Given the description of an element on the screen output the (x, y) to click on. 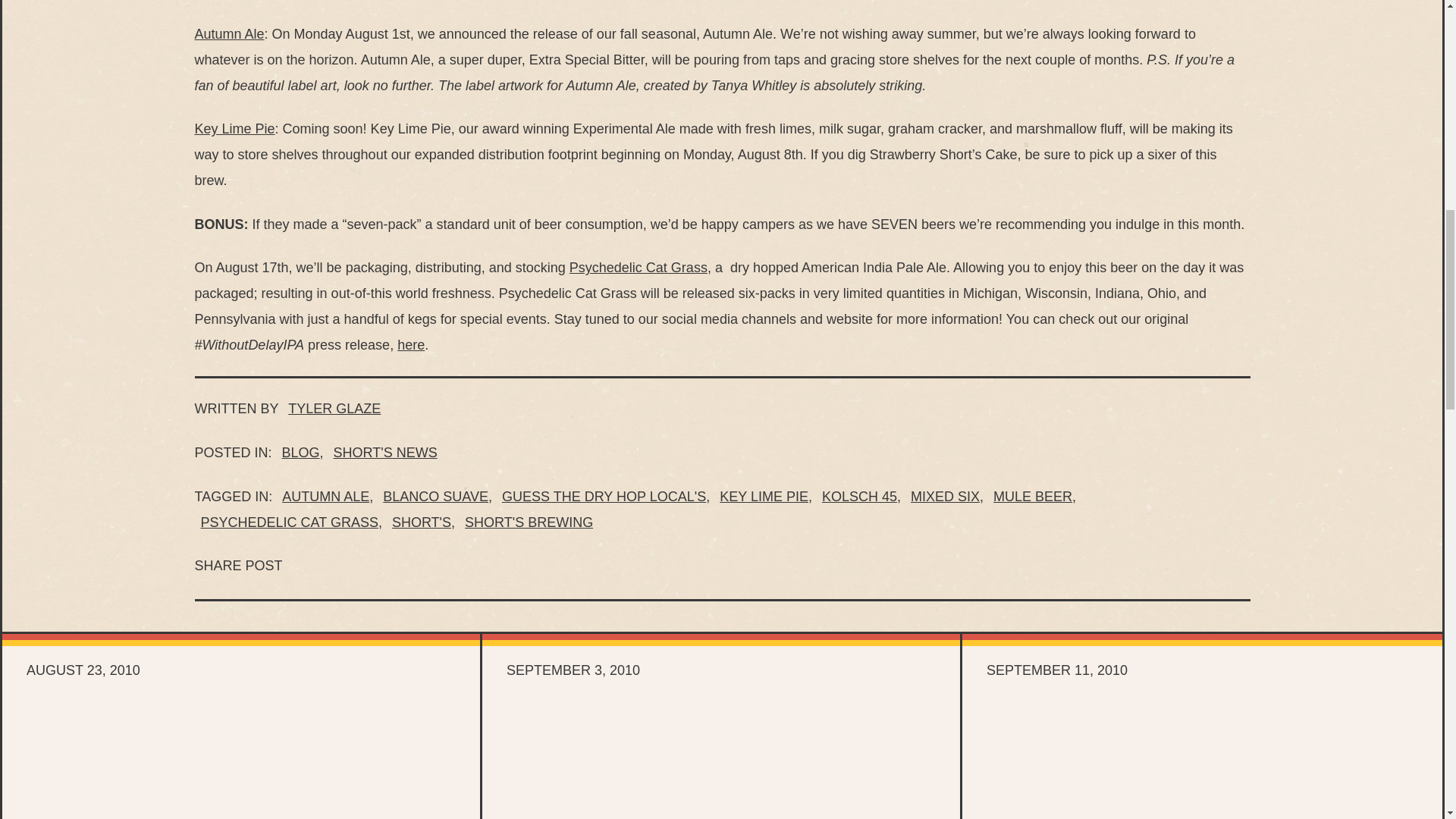
Tweet (346, 566)
Share on Facebook (309, 566)
Share on LinkedIn (382, 566)
